Given the description of an element on the screen output the (x, y) to click on. 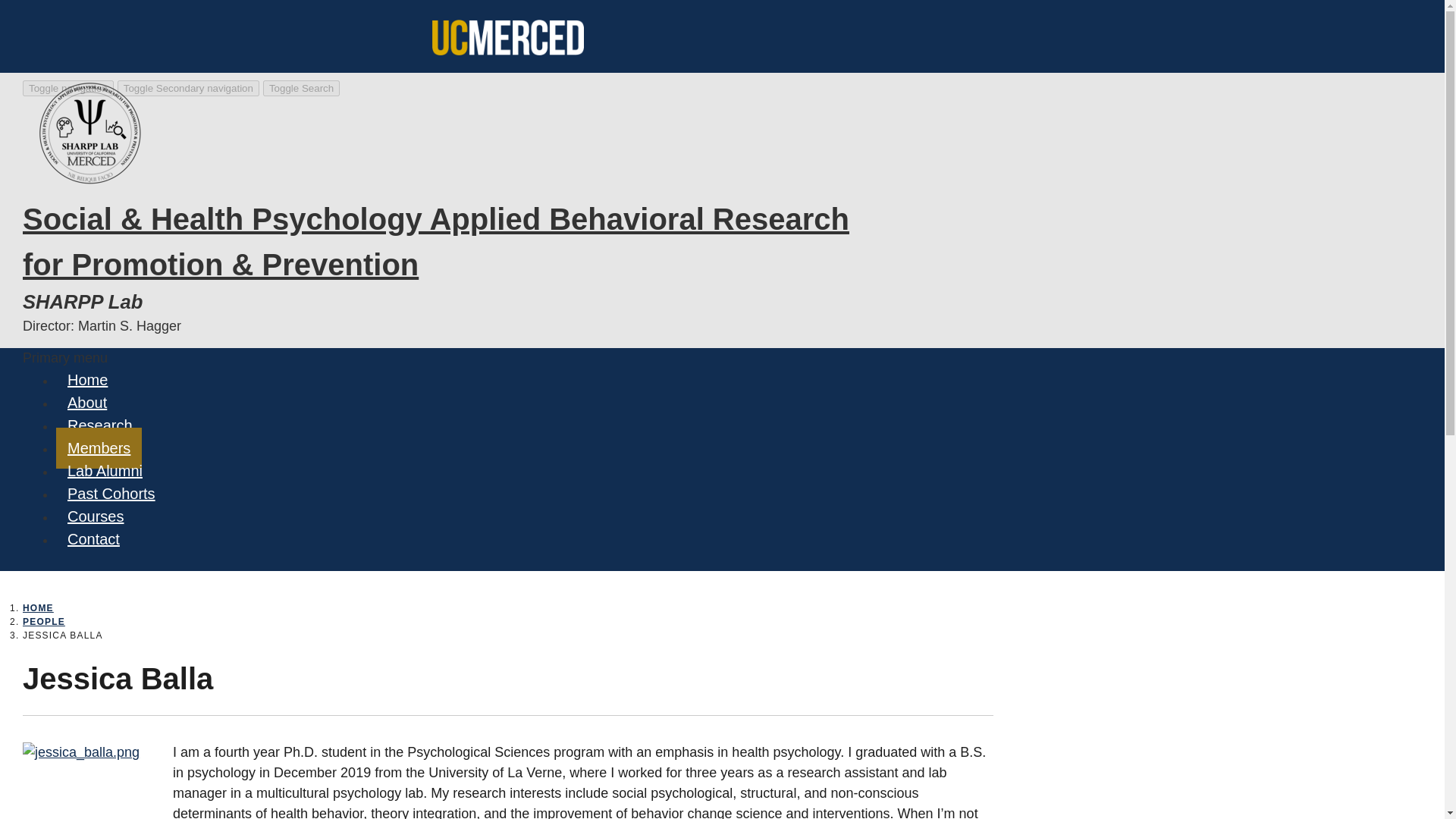
Toggle navigation (68, 88)
About (86, 402)
Toggle Secondary navigation (188, 88)
Home (87, 379)
Home (507, 42)
Toggle Search (301, 88)
Members (98, 447)
Research (100, 424)
